Given the description of an element on the screen output the (x, y) to click on. 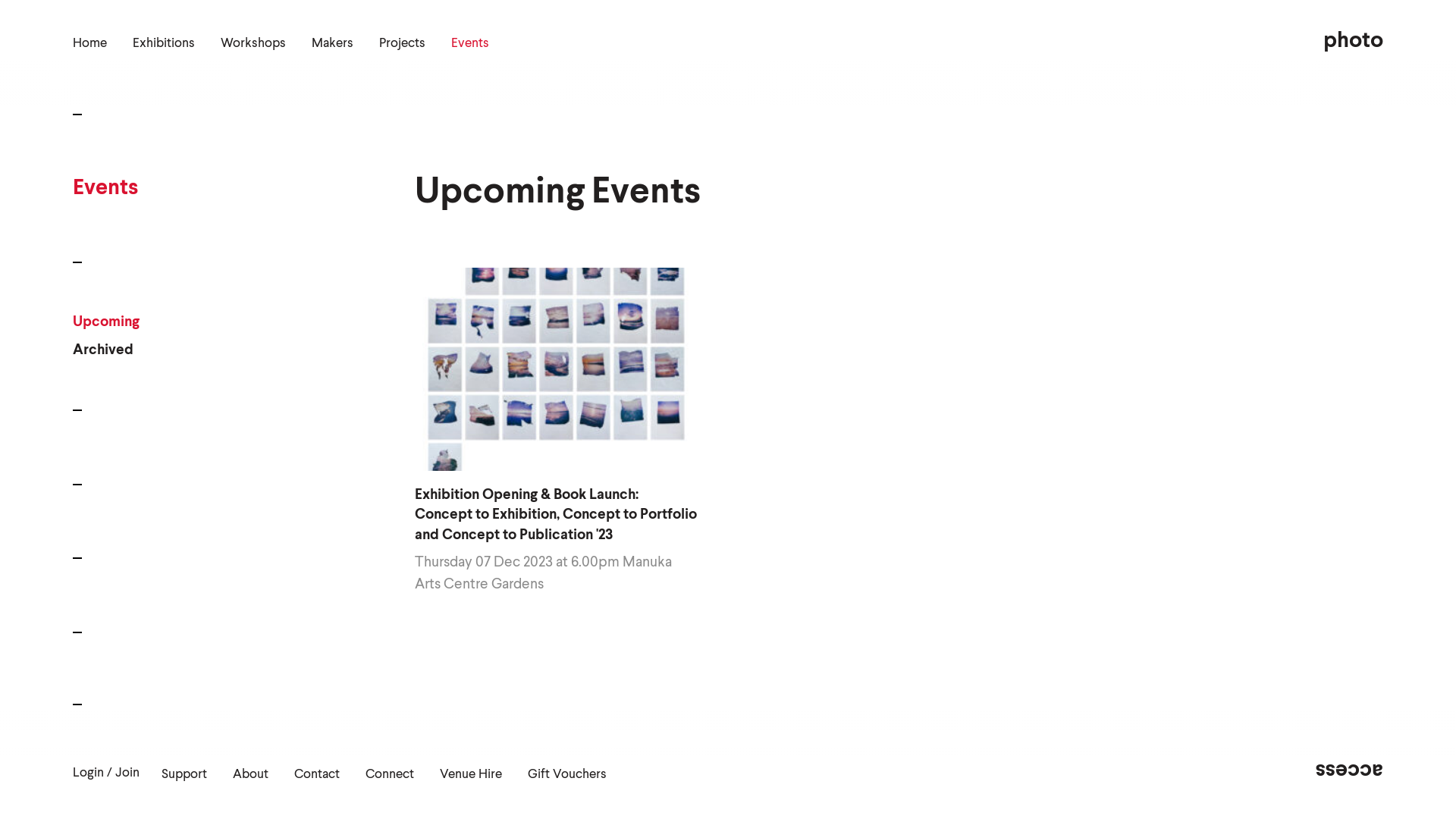
Login / Join Element type: text (105, 772)
About Element type: text (250, 774)
Makers Element type: text (332, 43)
photo Element type: text (1353, 41)
Upcoming Element type: text (105, 321)
access Element type: text (1349, 769)
Events Element type: text (470, 43)
Log in Element type: text (21, 492)
Exhibitions Element type: text (163, 43)
Projects Element type: text (402, 43)
Venue Hire Element type: text (470, 774)
Home Element type: text (89, 43)
Workshops Element type: text (252, 43)
Gift Vouchers Element type: text (566, 774)
Support Element type: text (184, 774)
Connect Element type: text (389, 774)
Archived Element type: text (105, 349)
Contact Element type: text (316, 774)
